Given the description of an element on the screen output the (x, y) to click on. 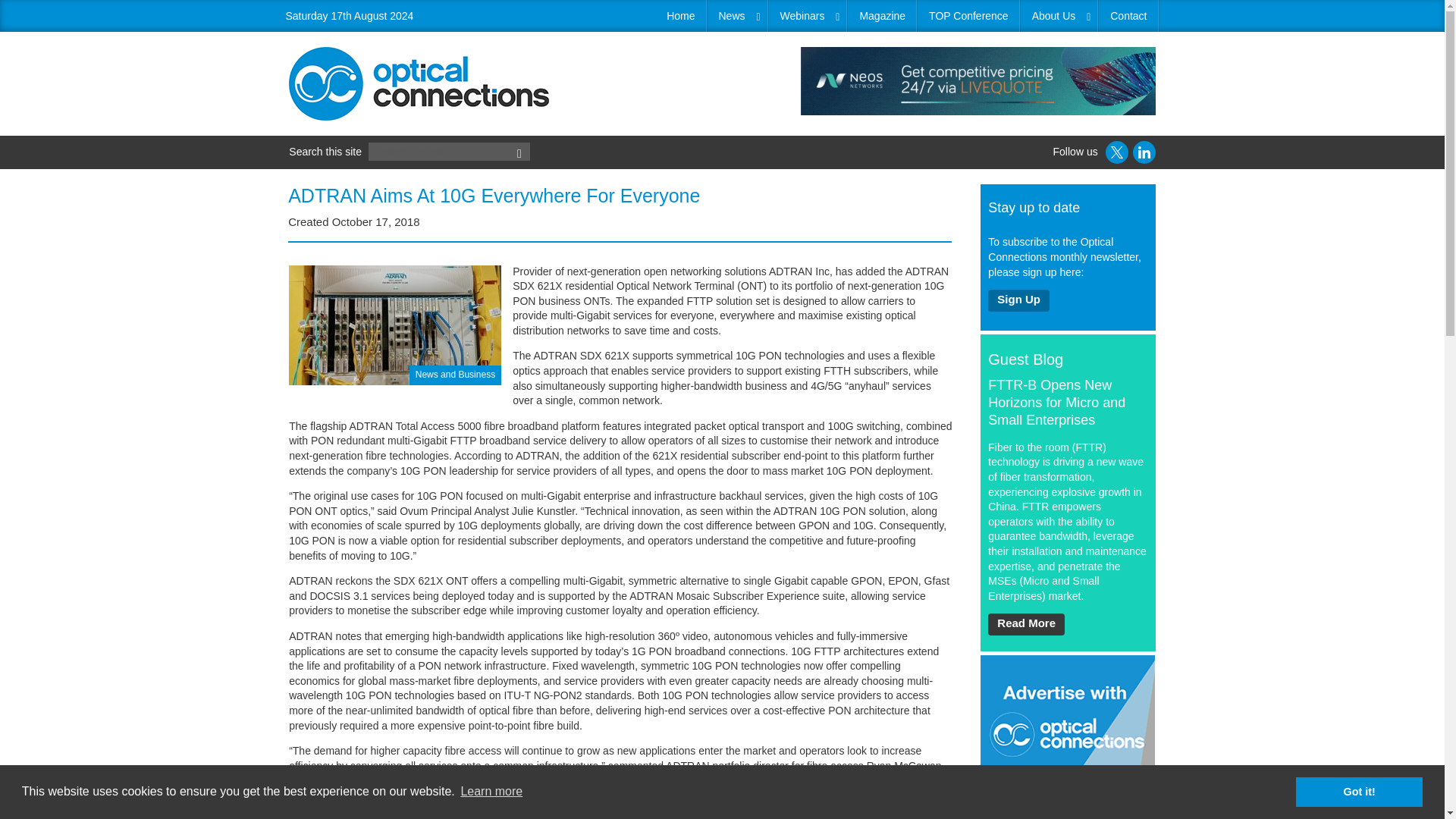
Contact (1128, 15)
Webinars (807, 15)
Learn more (491, 791)
Home (680, 15)
News (736, 15)
X (1116, 151)
www.adtran.com (453, 816)
Magazine (882, 15)
About Us (1059, 15)
LinkedIn (1144, 151)
